Given the description of an element on the screen output the (x, y) to click on. 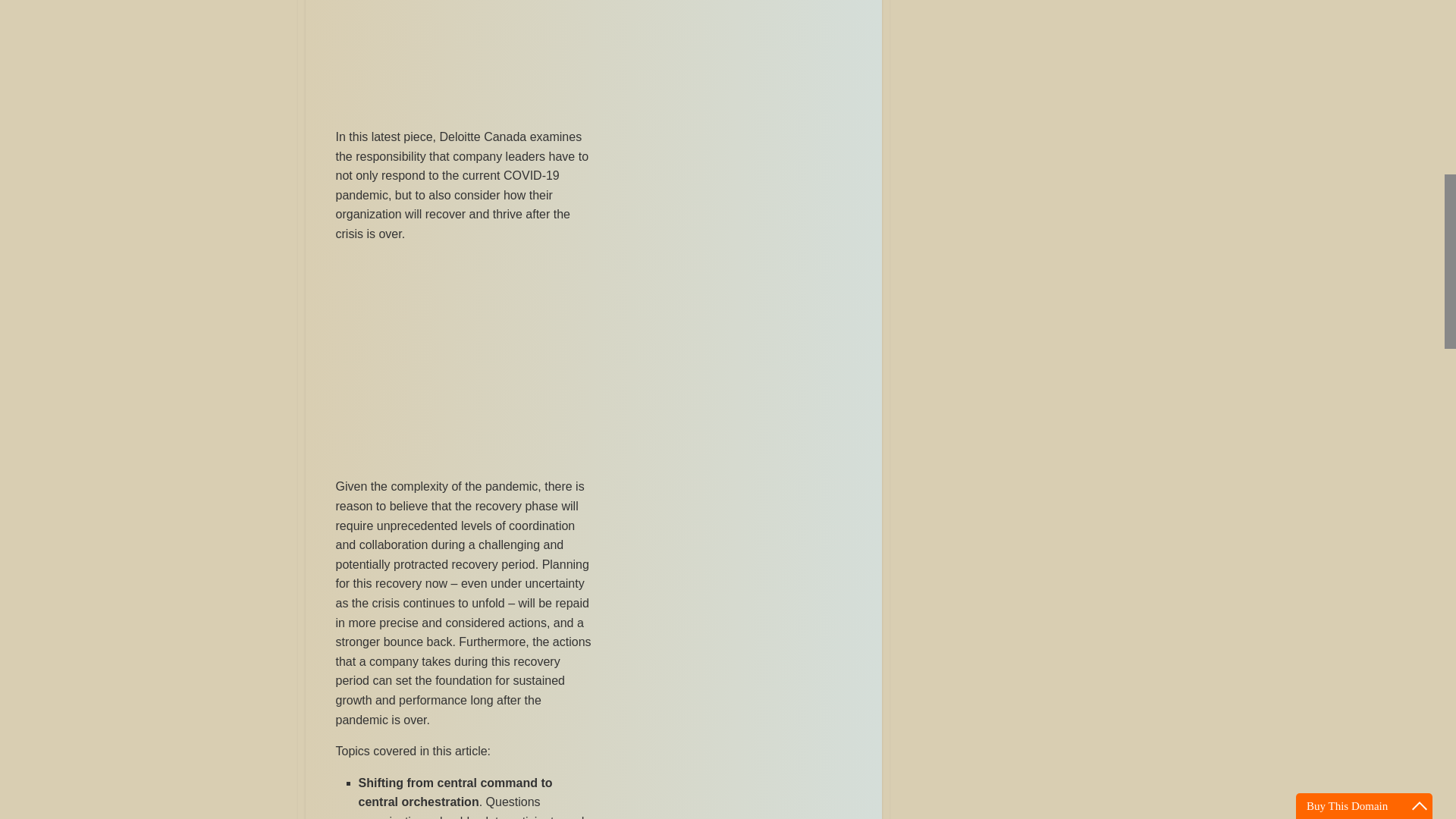
Advertisement (463, 362)
Advertisement (463, 57)
